Given the description of an element on the screen output the (x, y) to click on. 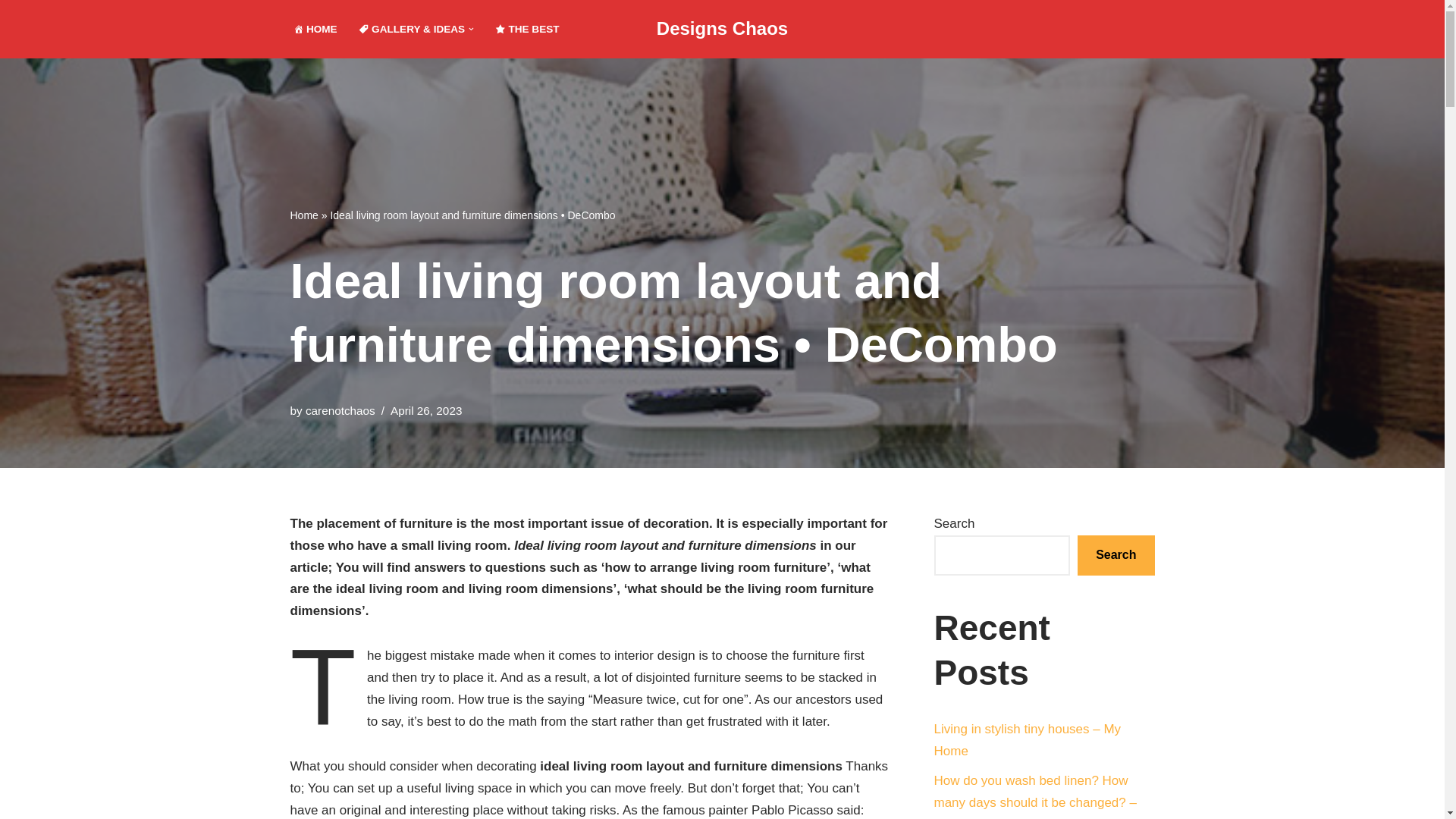
HOME (314, 28)
Designs Chaos (721, 29)
carenotchaos (340, 410)
Search (1115, 555)
Home (303, 215)
THE BEST (527, 28)
Skip to content (11, 31)
Posts by carenotchaos (340, 410)
